Given the description of an element on the screen output the (x, y) to click on. 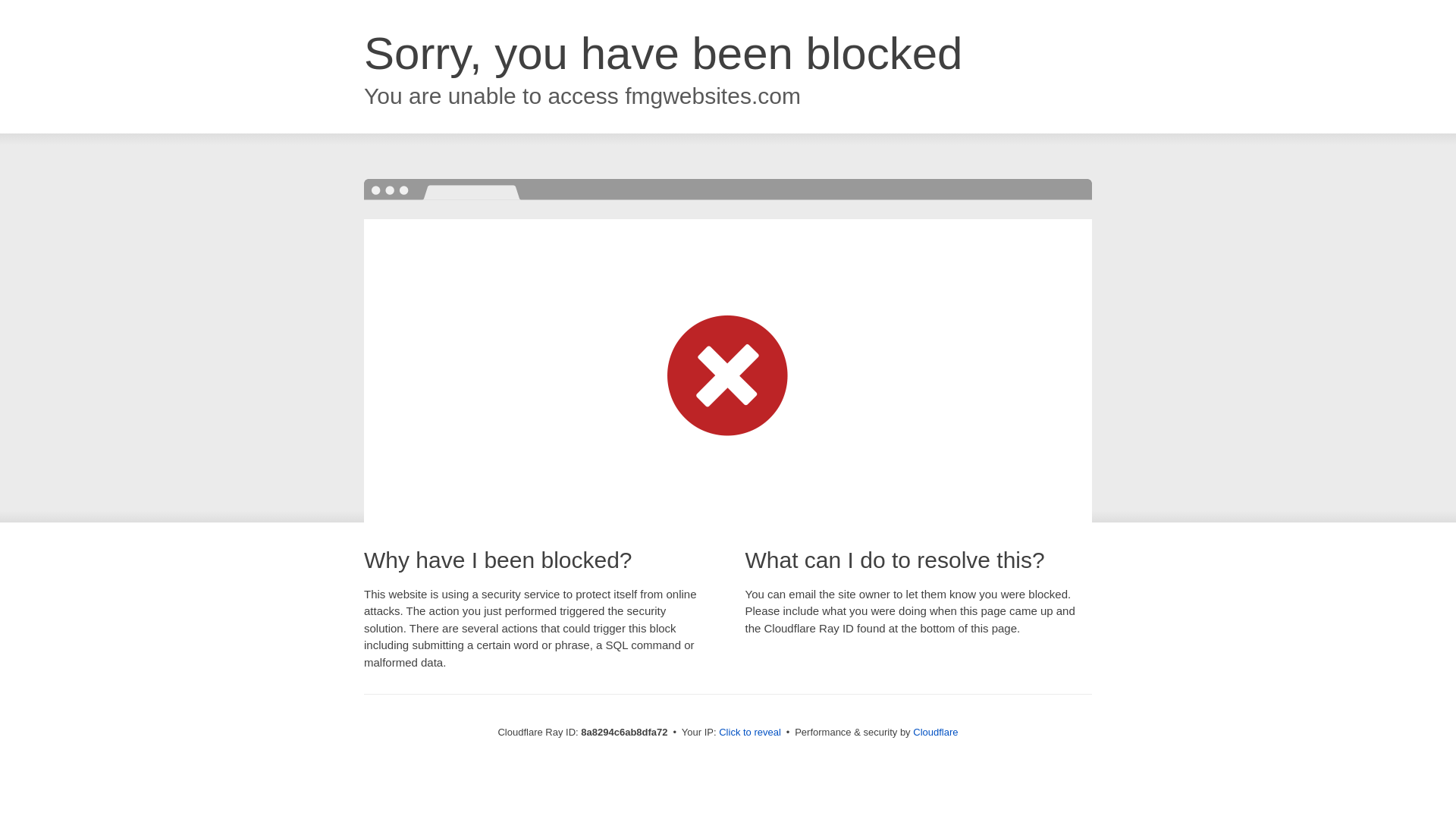
Click to reveal (749, 732)
Cloudflare (935, 731)
